Given the description of an element on the screen output the (x, y) to click on. 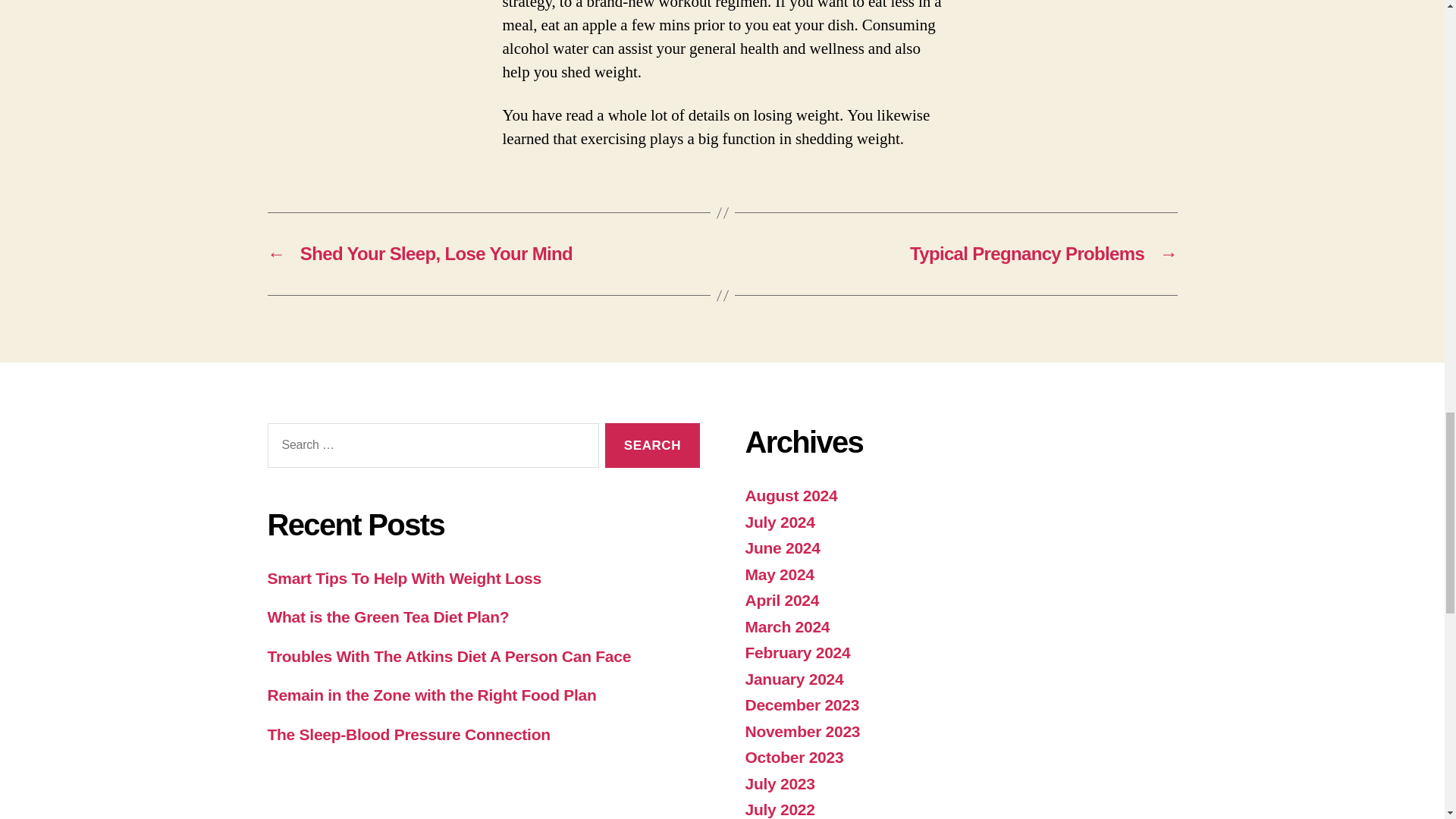
July 2024 (778, 521)
April 2024 (781, 600)
The Sleep-Blood Pressure Connection (408, 733)
Remain in the Zone with the Right Food Plan (430, 694)
August 2024 (790, 495)
Troubles With The Atkins Diet A Person Can Face (448, 656)
What is the Green Tea Diet Plan? (387, 616)
June 2024 (781, 547)
May 2024 (778, 574)
Search (651, 445)
